Given the description of an element on the screen output the (x, y) to click on. 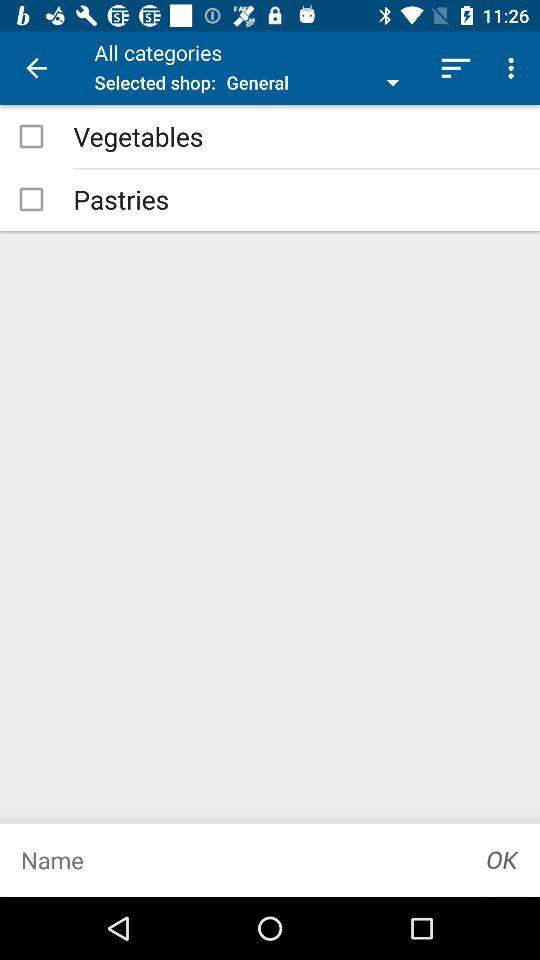
turn off item next to the all categories item (36, 68)
